Given the description of an element on the screen output the (x, y) to click on. 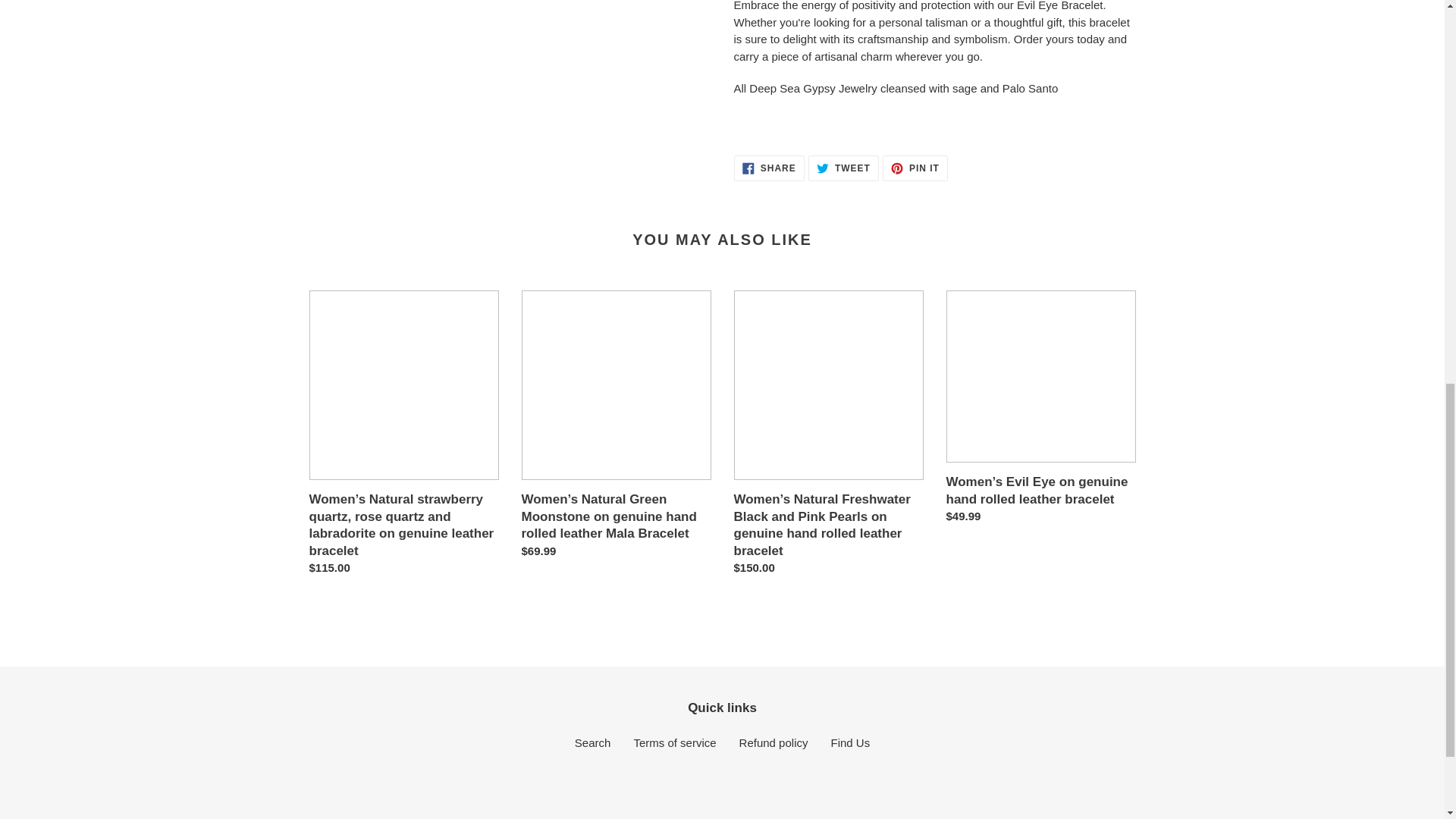
Search (593, 742)
Refund policy (769, 167)
Find Us (843, 167)
Terms of service (773, 742)
